Given the description of an element on the screen output the (x, y) to click on. 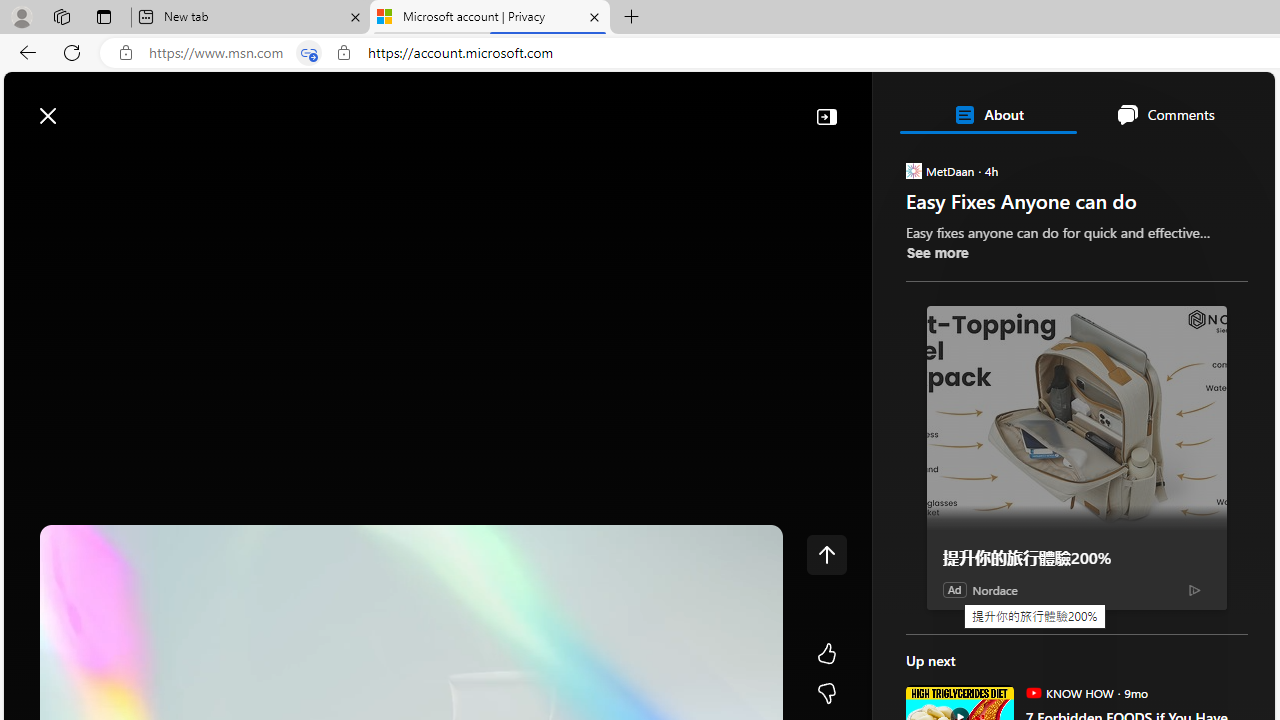
Class: button-glyph (29, 162)
About (987, 114)
Collapse (826, 115)
Class: control icon-only (826, 554)
Web search (283, 105)
